Given the description of an element on the screen output the (x, y) to click on. 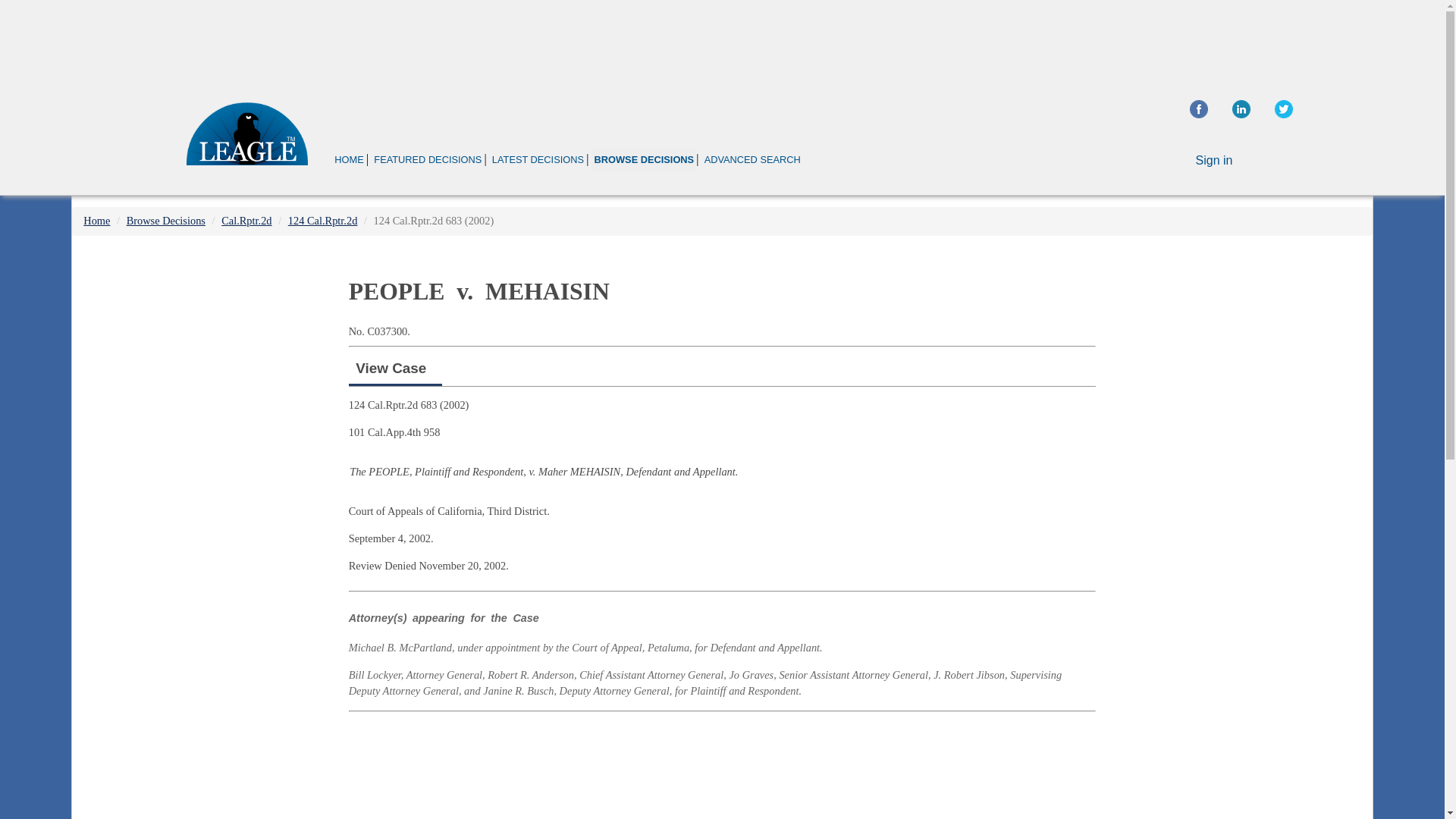
BROWSE DECISIONS (643, 159)
HOME (348, 159)
Advertisement (722, 768)
LATEST DECISIONS (537, 159)
Advertisement (721, 41)
View Case (390, 367)
Cal.Rptr.2d (245, 220)
Browse Decisions (165, 220)
Home (96, 220)
124 Cal.Rptr.2d (323, 220)
